Given the description of an element on the screen output the (x, y) to click on. 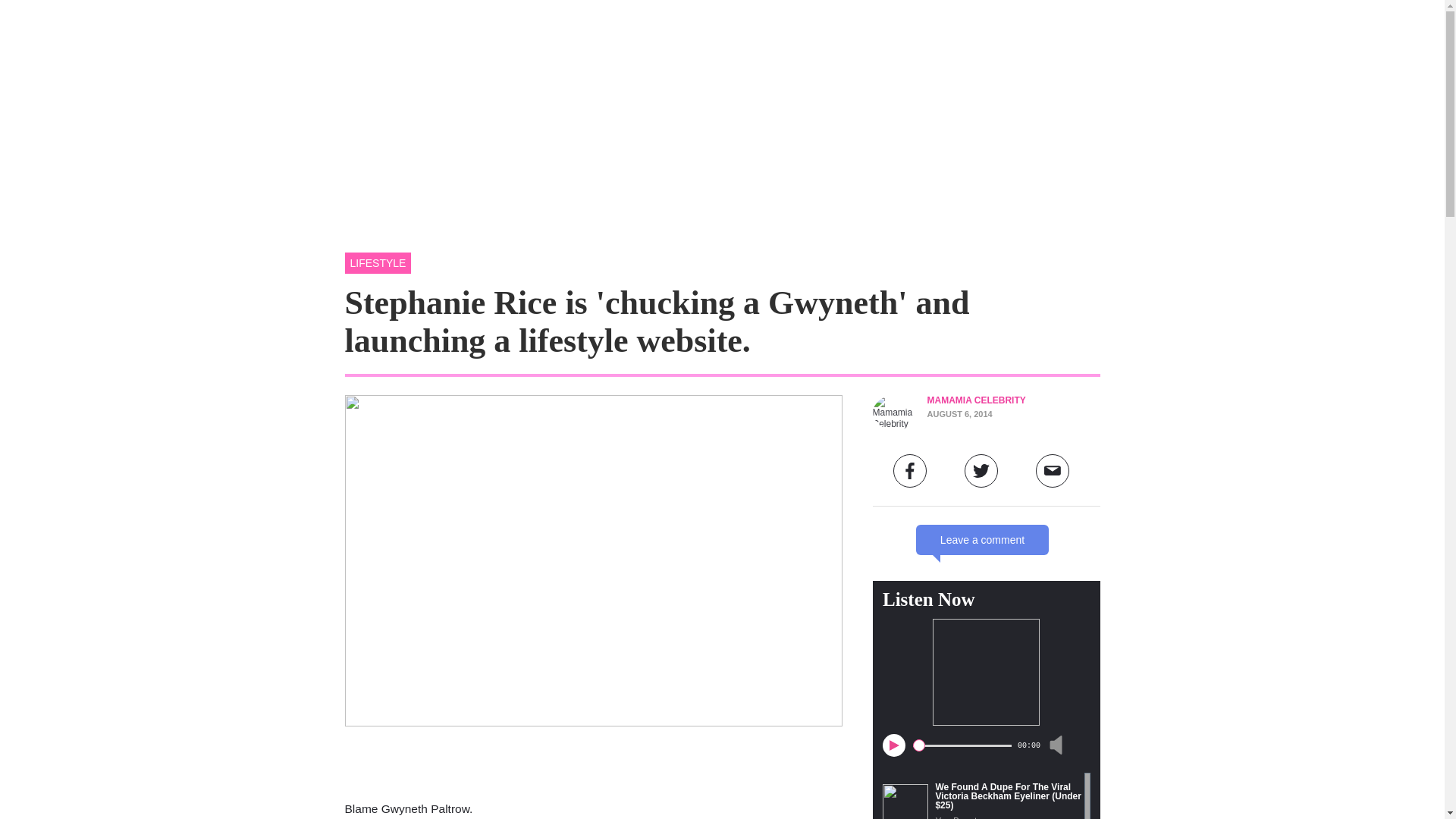
LIFESTYLE (376, 262)
0 (961, 745)
